Given the description of an element on the screen output the (x, y) to click on. 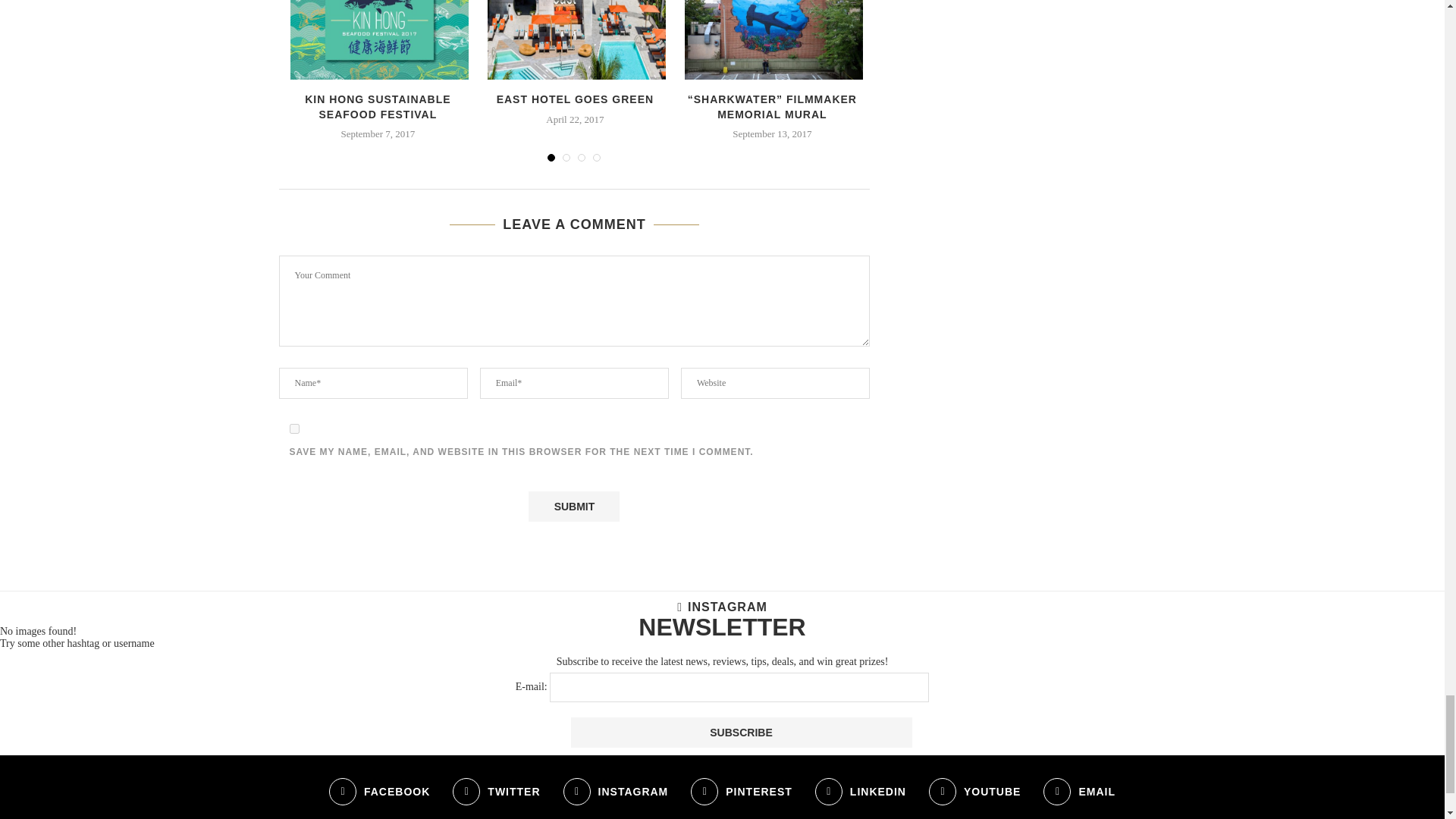
Submit (574, 506)
yes (294, 429)
Subscribe (740, 732)
